Given the description of an element on the screen output the (x, y) to click on. 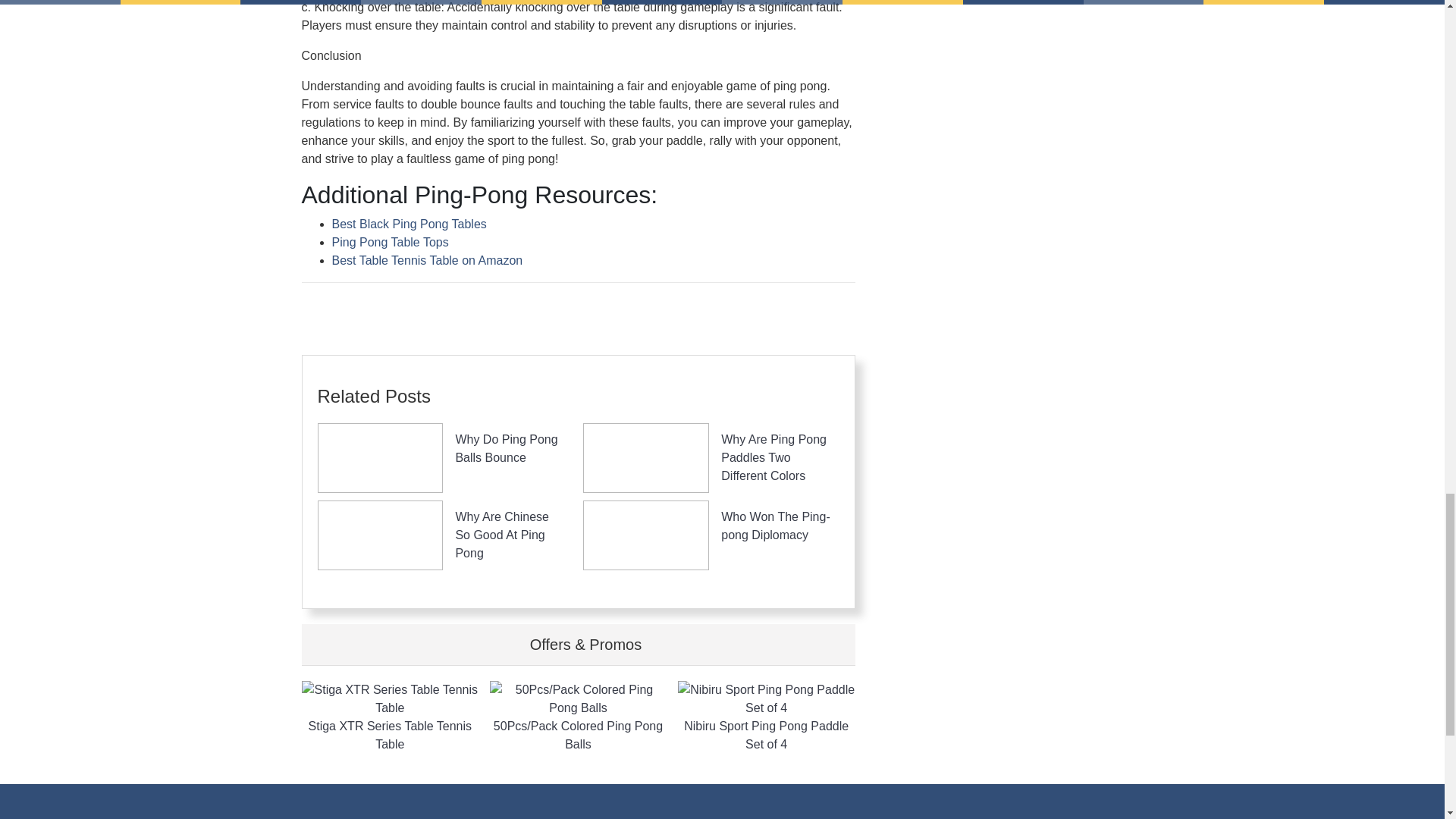
Ping Pong Table Tops (389, 241)
Stiga XTR Series Table Tennis Table (390, 716)
Nibiru Sport Ping Pong Paddle Set of 4 (767, 716)
Who Won The Ping-pong Diplomacy (774, 525)
Why Are Ping Pong Paddles Two Different Colors (773, 457)
Why Do Ping Pong Balls Bounce (505, 448)
Why Are Ping Pong Paddles Two Different Colors (773, 457)
Best Black Ping Pong Tables (408, 223)
Why Are Chinese So Good At Ping Pong (501, 534)
Why Do Ping Pong Balls Bounce (505, 448)
Who Won The Ping-pong Diplomacy (774, 525)
Best Table Tennis Table on Amazon (426, 259)
Why Are Chinese So Good At Ping Pong (501, 534)
